Given the description of an element on the screen output the (x, y) to click on. 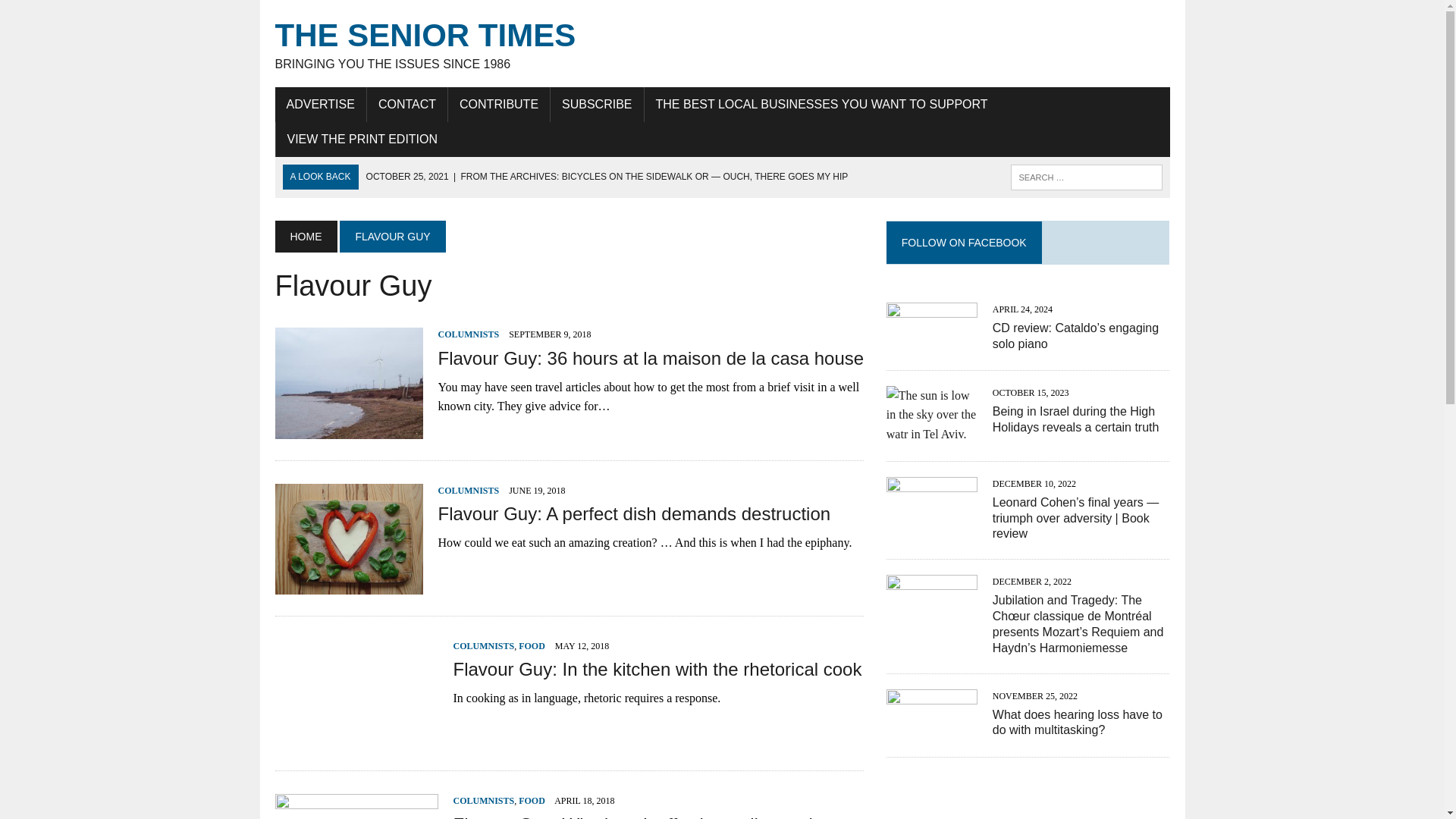
Flavour Guy: 36 hours at la maison de la casa house (651, 358)
Flavour Guy: In the kitchen with the rhetorical cook (656, 669)
COLUMNISTS (483, 645)
COLUMNISTS (468, 490)
CONTACT (406, 104)
Search (75, 14)
Flavour Guy: In the kitchen with the rhetorical cook (356, 739)
SUBSCRIBE (596, 104)
COLUMNISTS (468, 334)
Flavour Guy: A perfect dish demands destruction (634, 513)
